Given the description of an element on the screen output the (x, y) to click on. 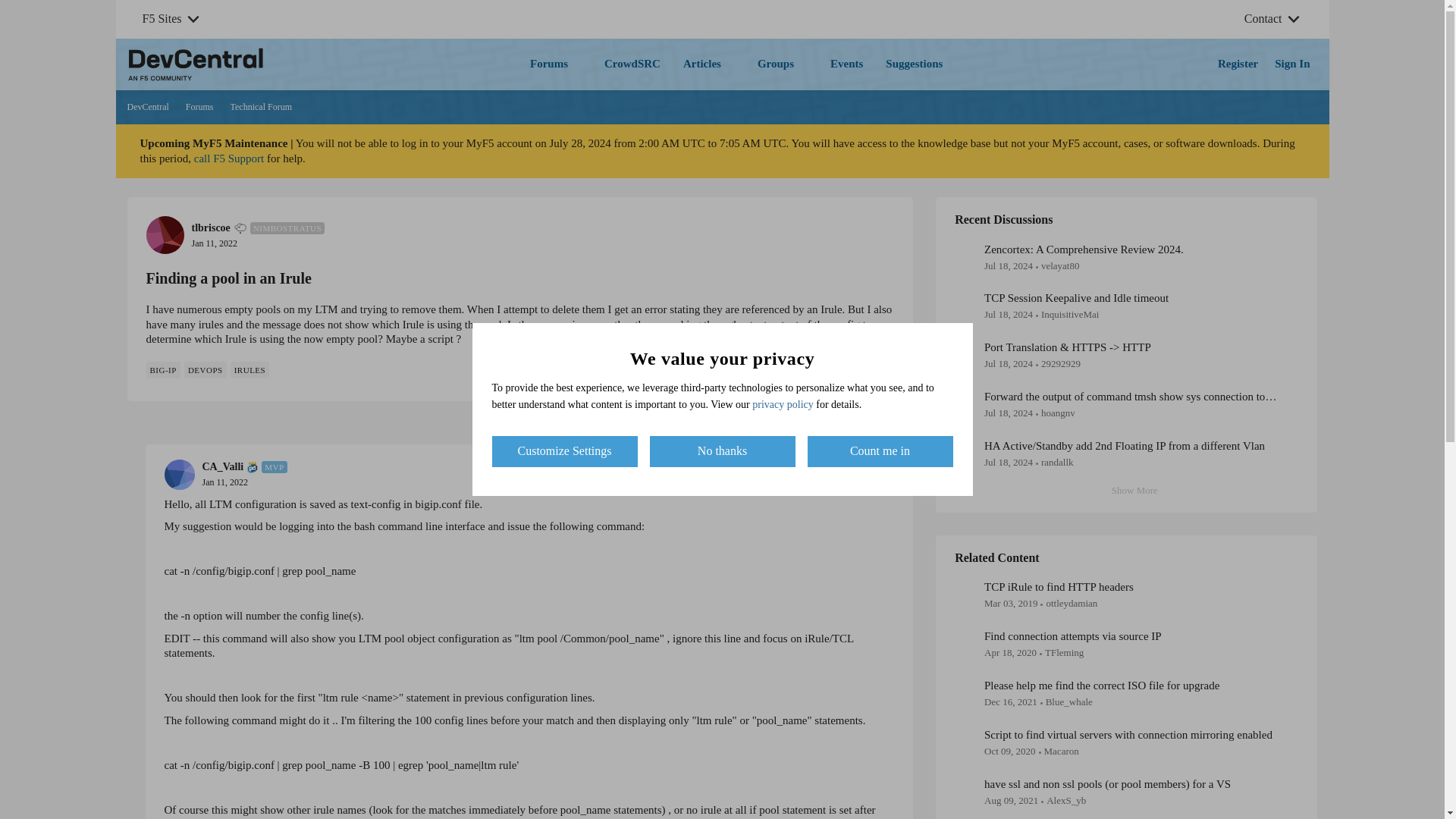
July 18, 2024 at 3:38 AM (1008, 363)
IRULES (882, 422)
DEVOPS (249, 369)
Skip to content (205, 369)
July 17, 2024 at 6:23 PM (179, 96)
Like (1008, 461)
BIG-IP (800, 368)
December 16, 2021 at 12:10 PM (162, 369)
Technical Forum (1010, 701)
Suggestions (261, 107)
July 17, 2024 at 8:02 PM (913, 63)
July 18, 2024 at 3:49 AM (1008, 412)
TCP iRule to find HTTP headers (1008, 314)
tlbriscoe (1059, 586)
